Given the description of an element on the screen output the (x, y) to click on. 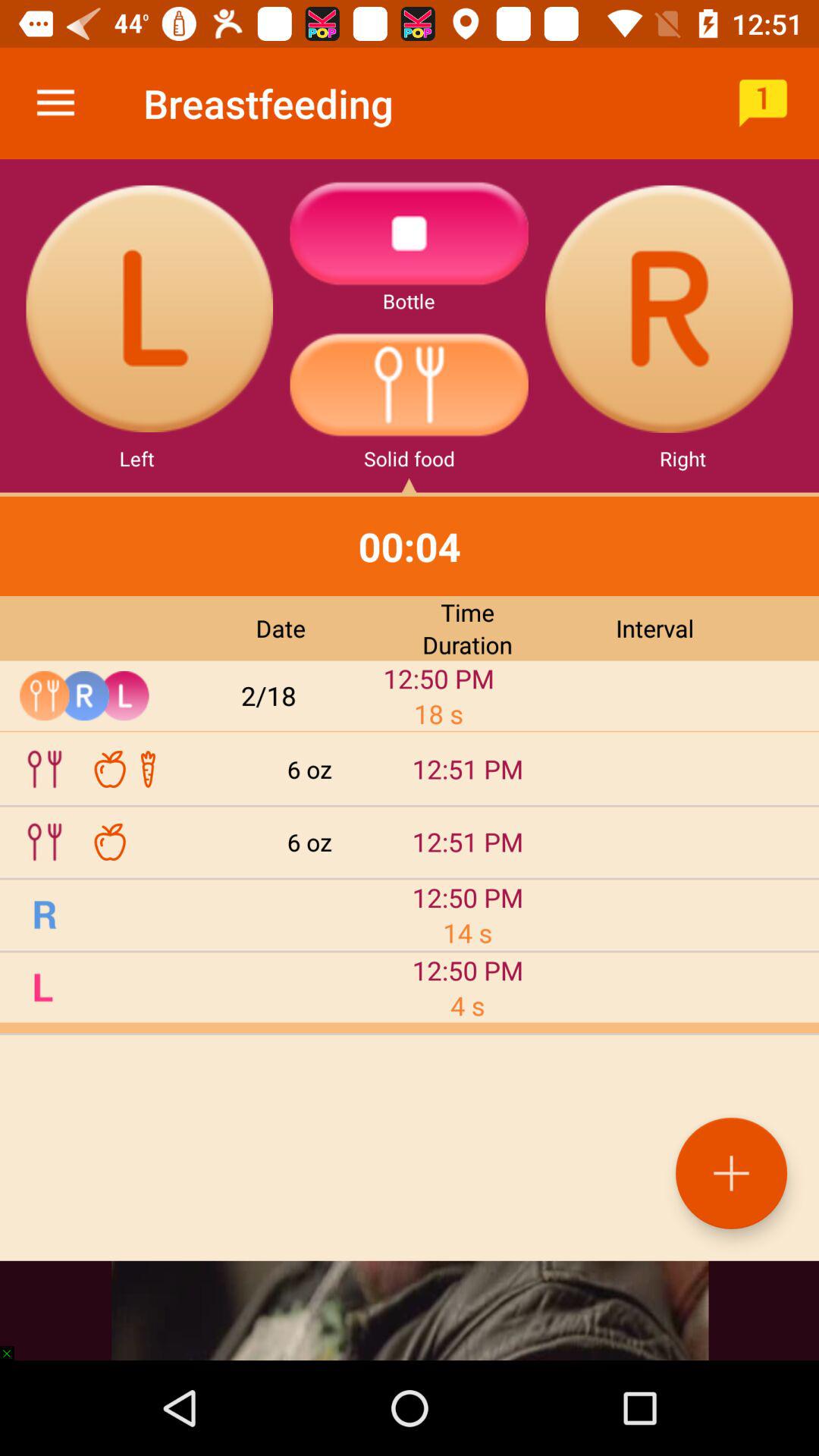
click on icon above bottle (409, 233)
